Given the description of an element on the screen output the (x, y) to click on. 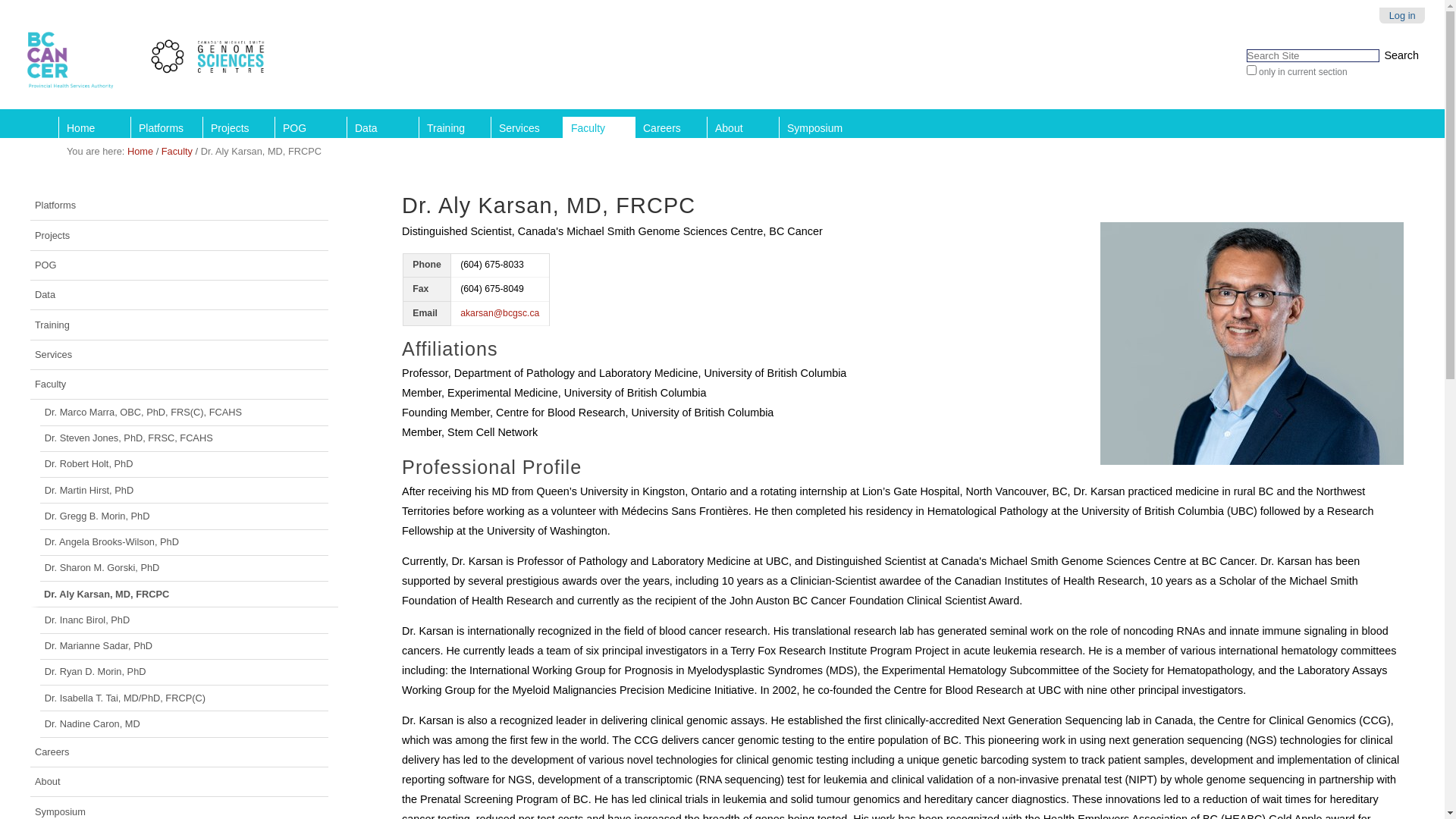
Projects Element type: text (179, 235)
About Element type: text (179, 782)
Faculty Element type: text (179, 384)
Dr. Steven Jones, PhD, FRSC, FCAHS Element type: text (184, 438)
Dr. Aly Karsan, MD, FRCPC Element type: text (184, 594)
Services Element type: text (179, 355)
Dr. Ryan D. Morin, PhD Element type: text (184, 672)
Dr. Sharon M. Gorski, PhD Element type: text (184, 568)
Faculty Element type: text (176, 150)
Home Element type: text (140, 150)
Projects Element type: text (238, 127)
Dr. Nadine Caron, MD Element type: text (184, 724)
Search Element type: text (1401, 54)
Faculty Element type: text (598, 127)
Dr. Isabella T. Tai, MD/PhD, FRCP(C) Element type: text (184, 698)
POG Element type: text (310, 127)
Data Element type: text (382, 127)
Dr. Robert Holt, PhD Element type: text (184, 464)
Platforms Element type: text (166, 127)
Training Element type: text (454, 127)
Careers Element type: text (179, 752)
Search Site Element type: hover (1312, 55)
Dr. Martin Hirst, PhD Element type: text (184, 490)
Dr. Marianne Sadar, PhD Element type: text (184, 646)
About Element type: text (742, 127)
Log in Element type: text (1402, 15)
akarsan@bcgsc.ca Element type: text (499, 312)
Home Element type: text (94, 127)
Data Element type: text (179, 295)
Careers Element type: text (670, 127)
Services Element type: text (526, 127)
Dr. Inanc Birol, PhD Element type: text (184, 620)
Platforms Element type: text (179, 205)
Symposium Element type: text (814, 127)
Dr. Gregg B. Morin, PhD Element type: text (184, 516)
Dr. Angela Brooks-Wilson, PhD Element type: text (184, 542)
Dr. Marco Marra, OBC, PhD, FRS(C), FCAHS Element type: text (184, 412)
POG Element type: text (179, 265)
Training Element type: text (179, 324)
